Given the description of an element on the screen output the (x, y) to click on. 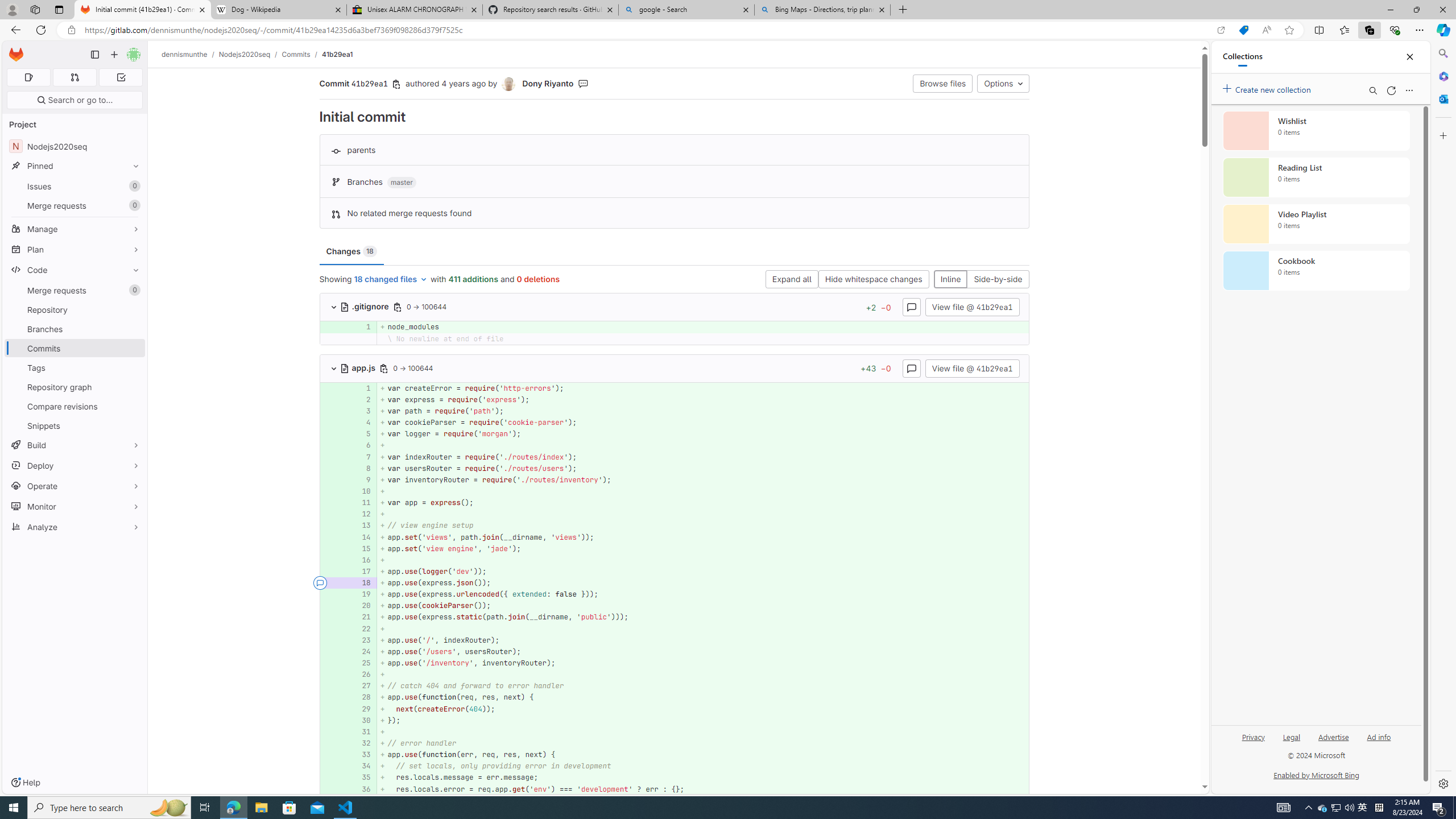
AutomationID: 4a68969ef8e858229267b842dedf42ab5dde4d50_0_10 (674, 490)
AutomationID: 4a68969ef8e858229267b842dedf42ab5dde4d50_0_12 (674, 514)
Reading List collection, 0 items (1316, 177)
20 (362, 605)
8 (360, 468)
